Given the description of an element on the screen output the (x, y) to click on. 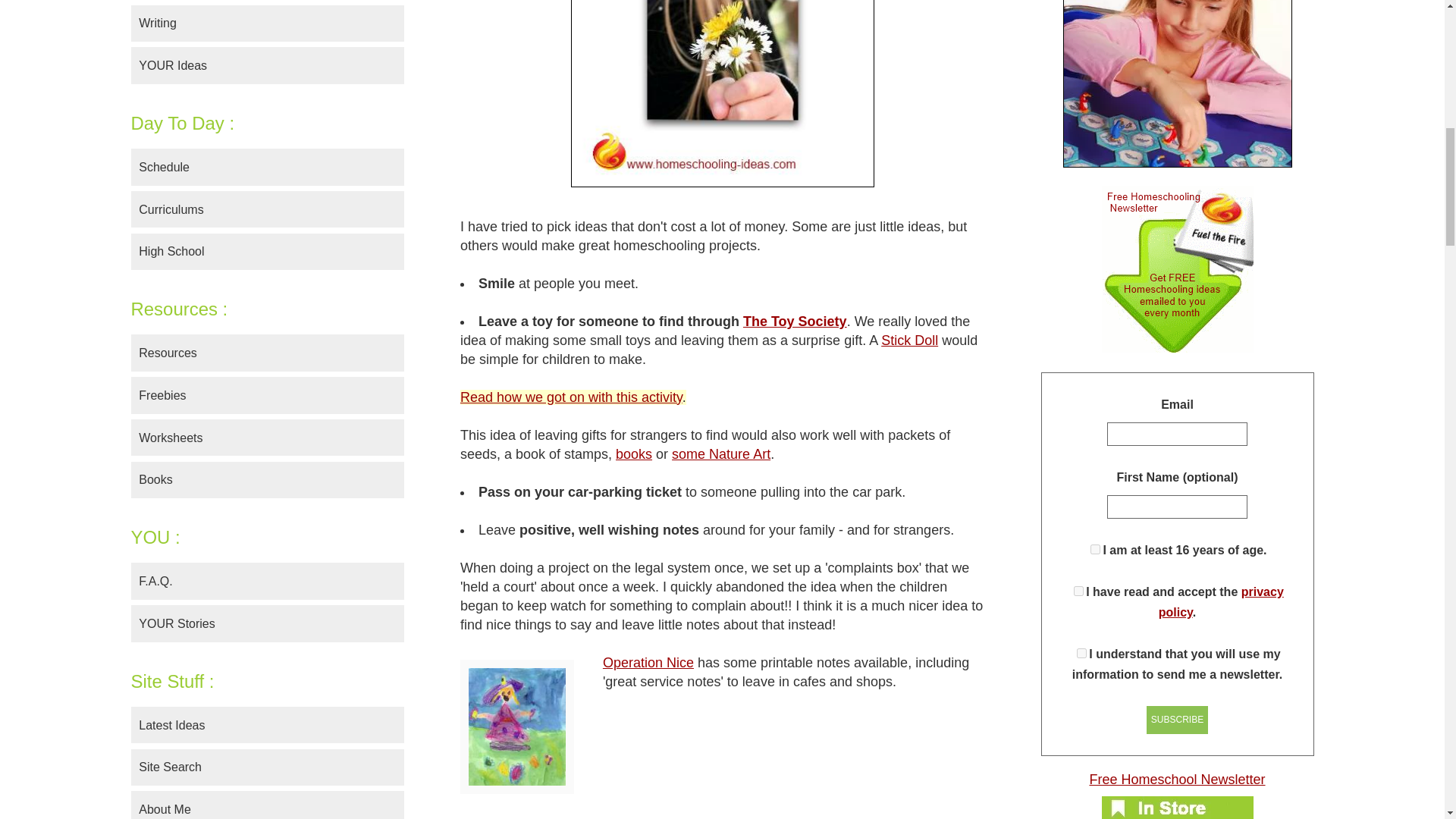
Random Acts of Kindness Ideas for Kids (721, 93)
Read how we got on with this activity (571, 396)
some Nature Art (720, 453)
Stick Doll (908, 340)
books (633, 453)
on (1095, 549)
Educational Board Games for Kids (1177, 83)
on (1081, 653)
on (1078, 591)
Operation Nice (648, 662)
The Toy Society (794, 321)
